Given the description of an element on the screen output the (x, y) to click on. 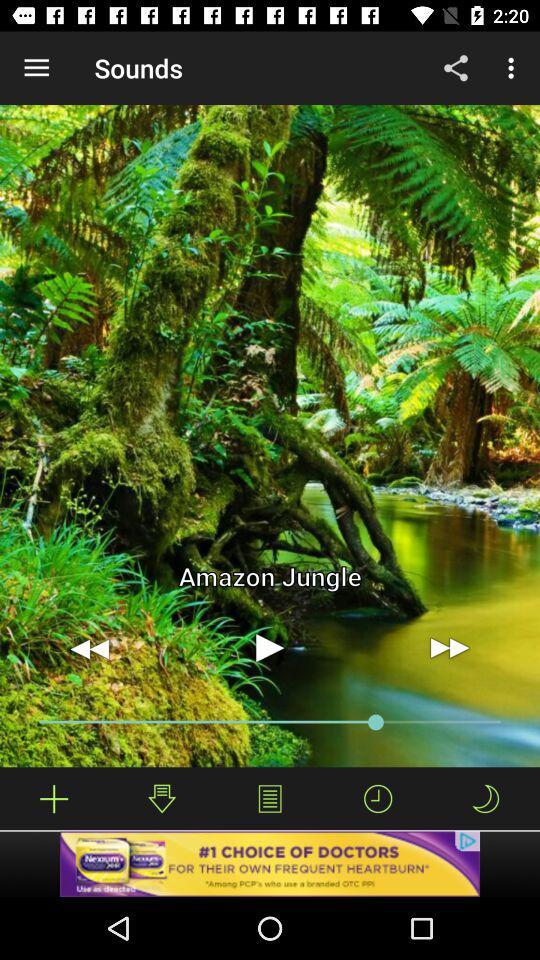
go to play (270, 648)
